Given the description of an element on the screen output the (x, y) to click on. 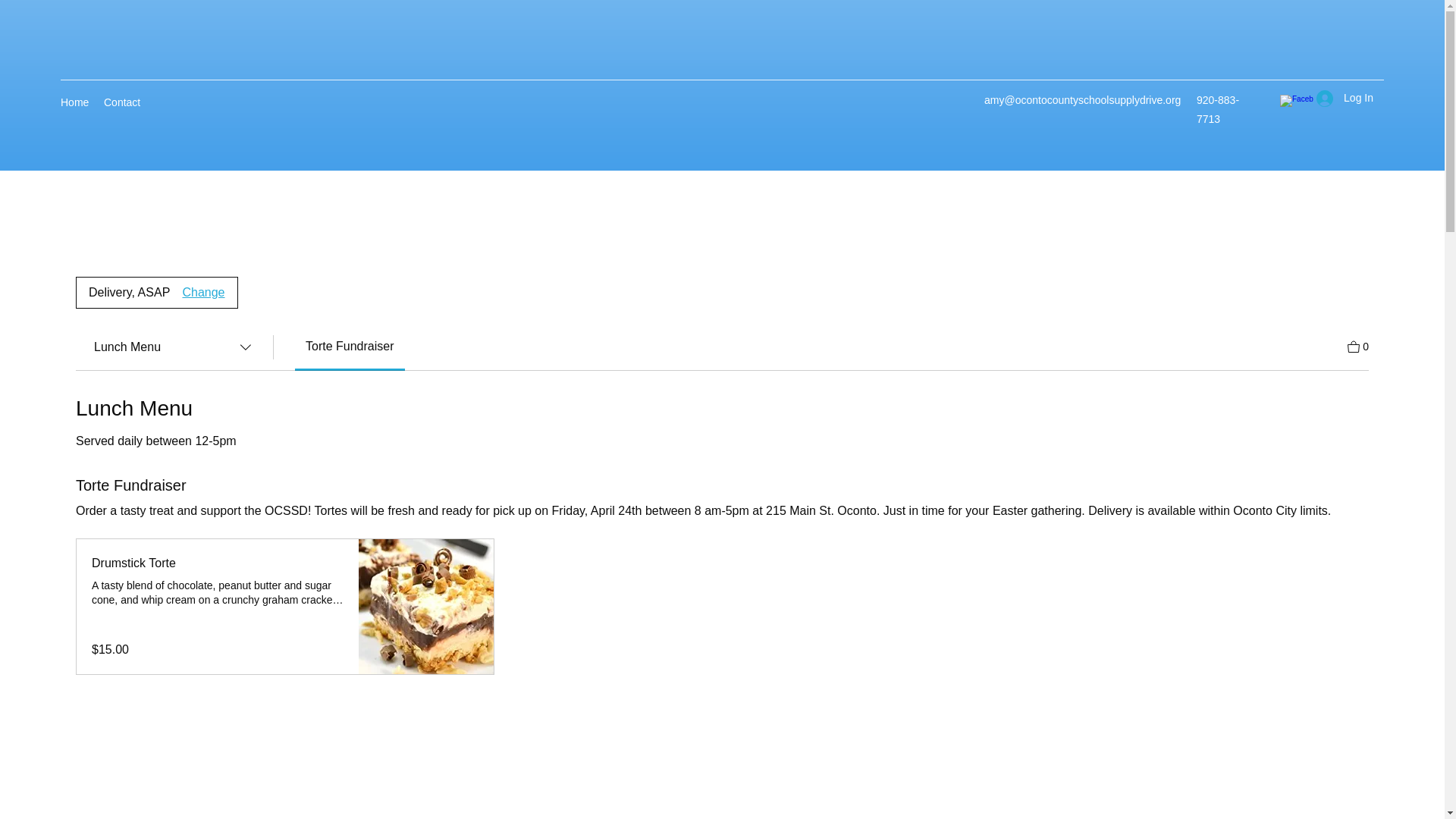
Change (203, 292)
Contact (122, 101)
0 (1358, 345)
Lunch Menu (173, 347)
Drumstick Torte (217, 563)
Home (74, 101)
Log In (1345, 98)
